Given the description of an element on the screen output the (x, y) to click on. 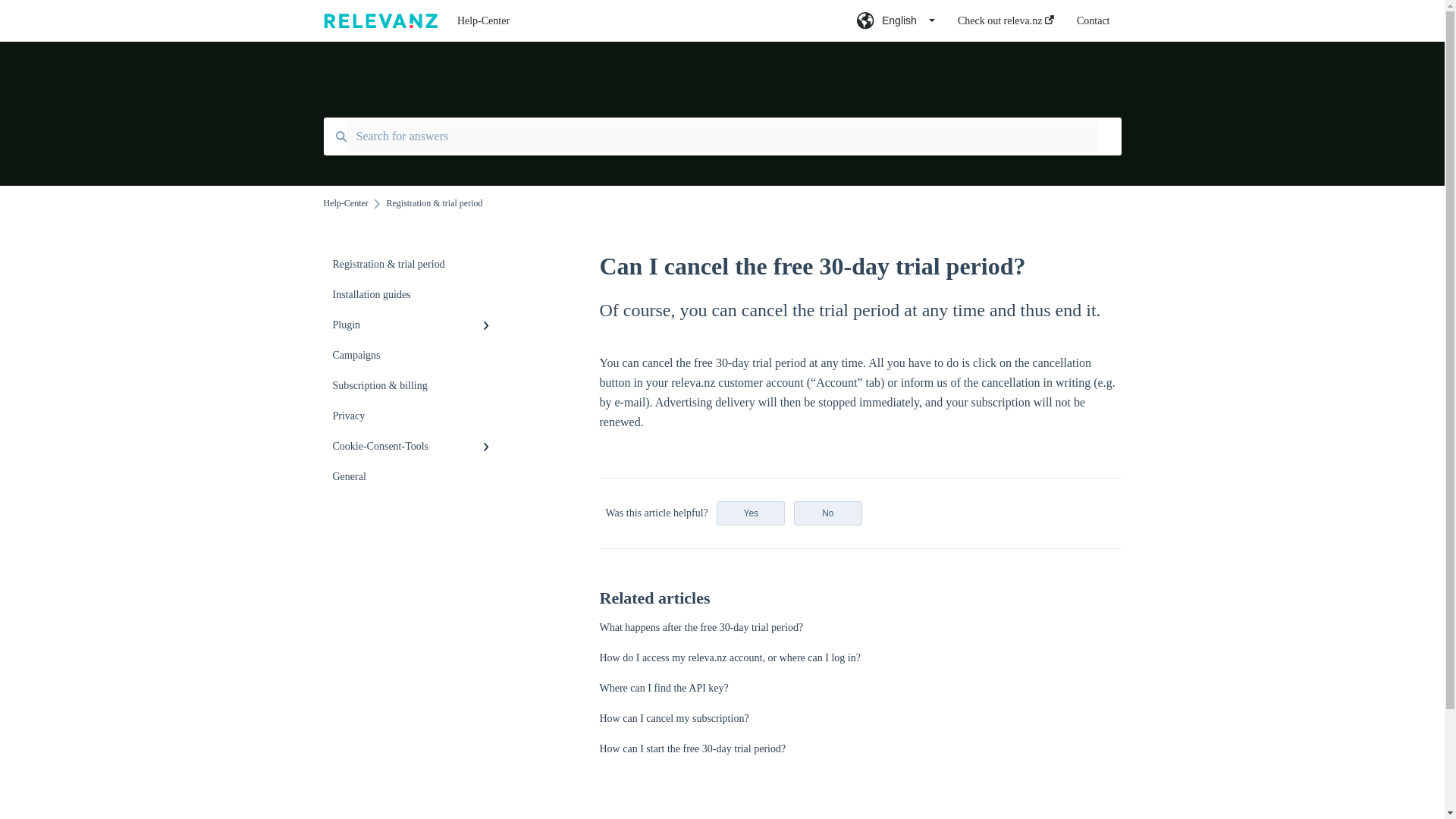
Help-Center (633, 21)
Installation guides (414, 295)
Check out releva.nz (1006, 25)
How do I access my releva.nz account, or where can I log in? (729, 657)
Privacy (414, 416)
How can I start the free 30-day trial period? (692, 748)
What happens after the free 30-day trial period? (700, 627)
No (827, 513)
English (895, 25)
General (414, 476)
Where can I find the API key? (663, 687)
Yes (750, 513)
Plugin (414, 325)
Campaigns (414, 355)
Cookie-Consent-Tools (414, 446)
